Given the description of an element on the screen output the (x, y) to click on. 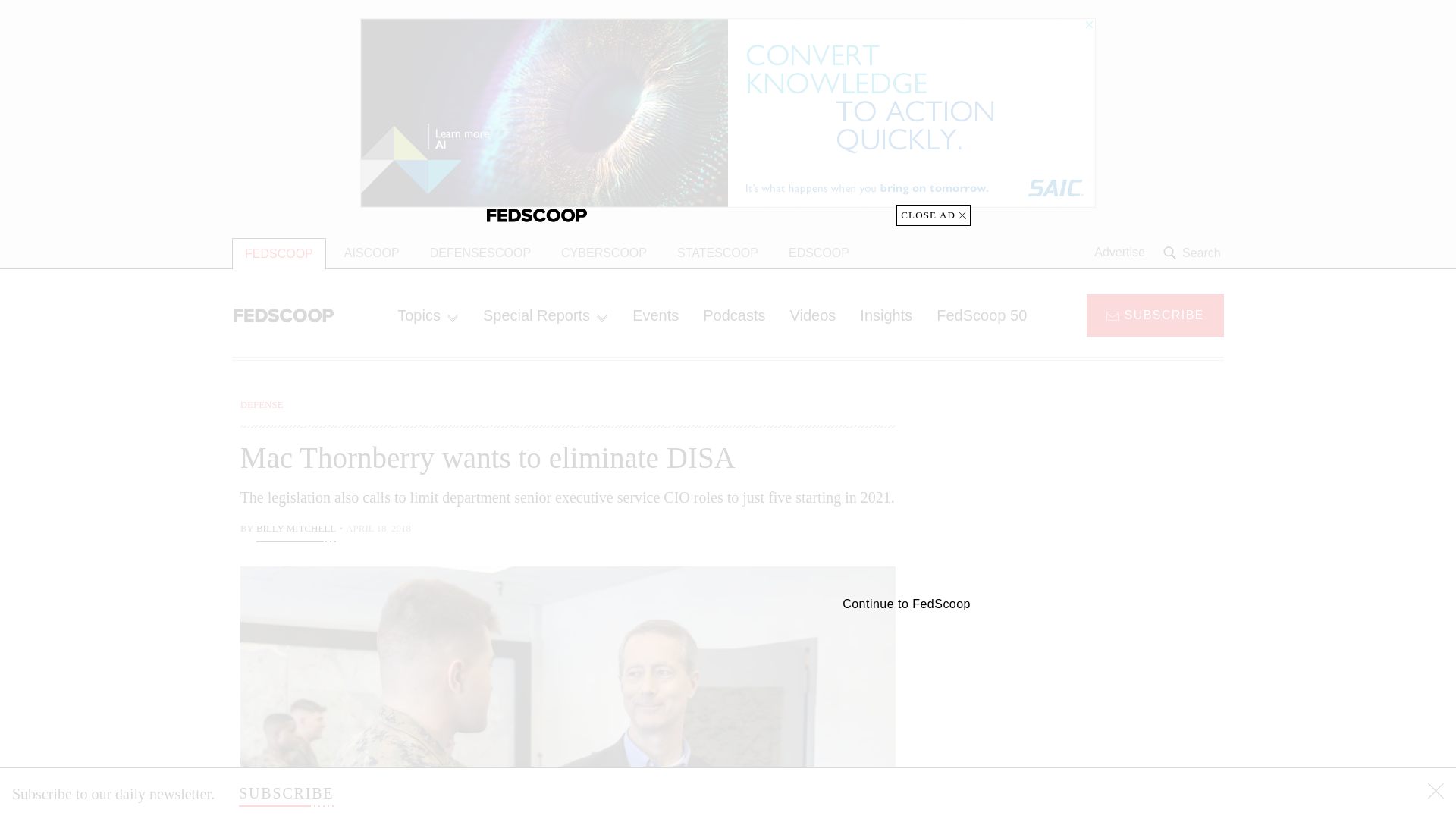
Advertise (1119, 252)
Insights (885, 315)
Billy Mitchell (296, 529)
CYBERSCOOP (603, 253)
3rd party ad content (1101, 492)
Podcasts (733, 315)
DEFENSESCOOP (480, 253)
Videos (812, 315)
Events (655, 315)
Search (1193, 252)
AISCOOP (371, 253)
FEDSCOOP (278, 253)
Topics (427, 315)
STATESCOOP (717, 253)
